Given the description of an element on the screen output the (x, y) to click on. 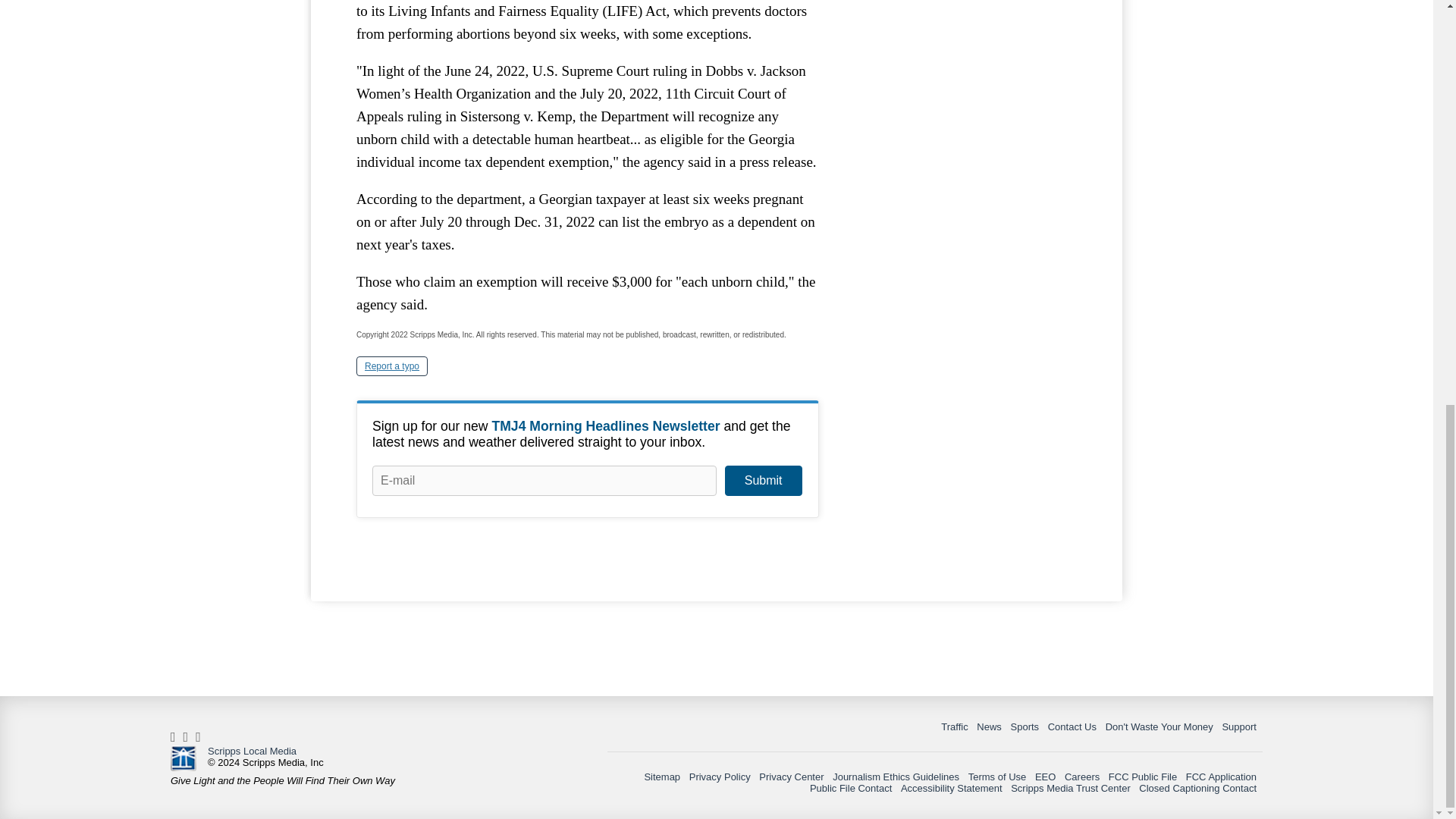
Submit (763, 481)
